Given the description of an element on the screen output the (x, y) to click on. 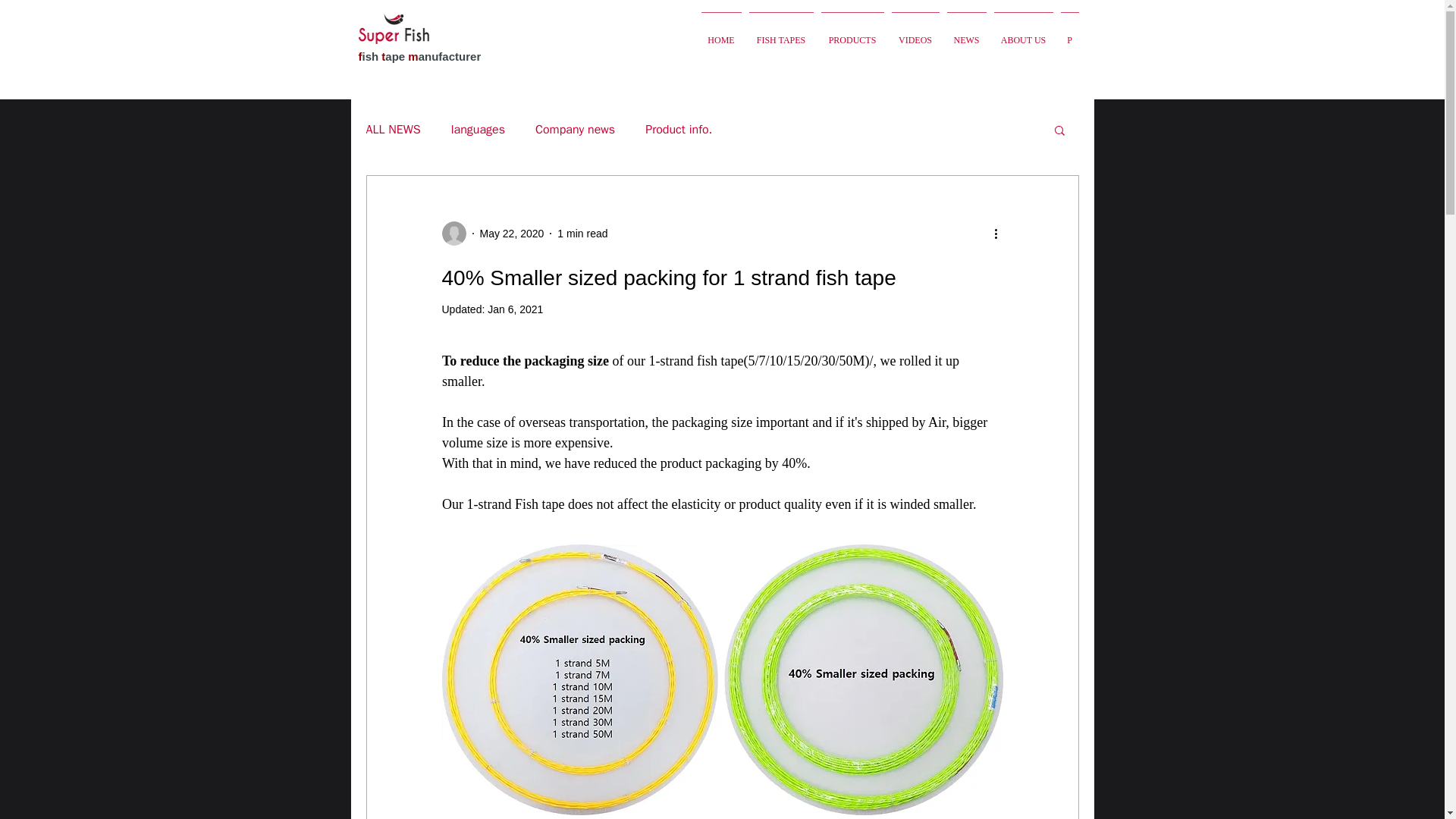
HOME (721, 33)
VIDEOS (914, 33)
ABOUT US (1023, 33)
Jan 6, 2021 (515, 309)
SF fish tape (393, 28)
NEWS (966, 33)
1 min read (582, 233)
May 22, 2020 (511, 233)
